Given the description of an element on the screen output the (x, y) to click on. 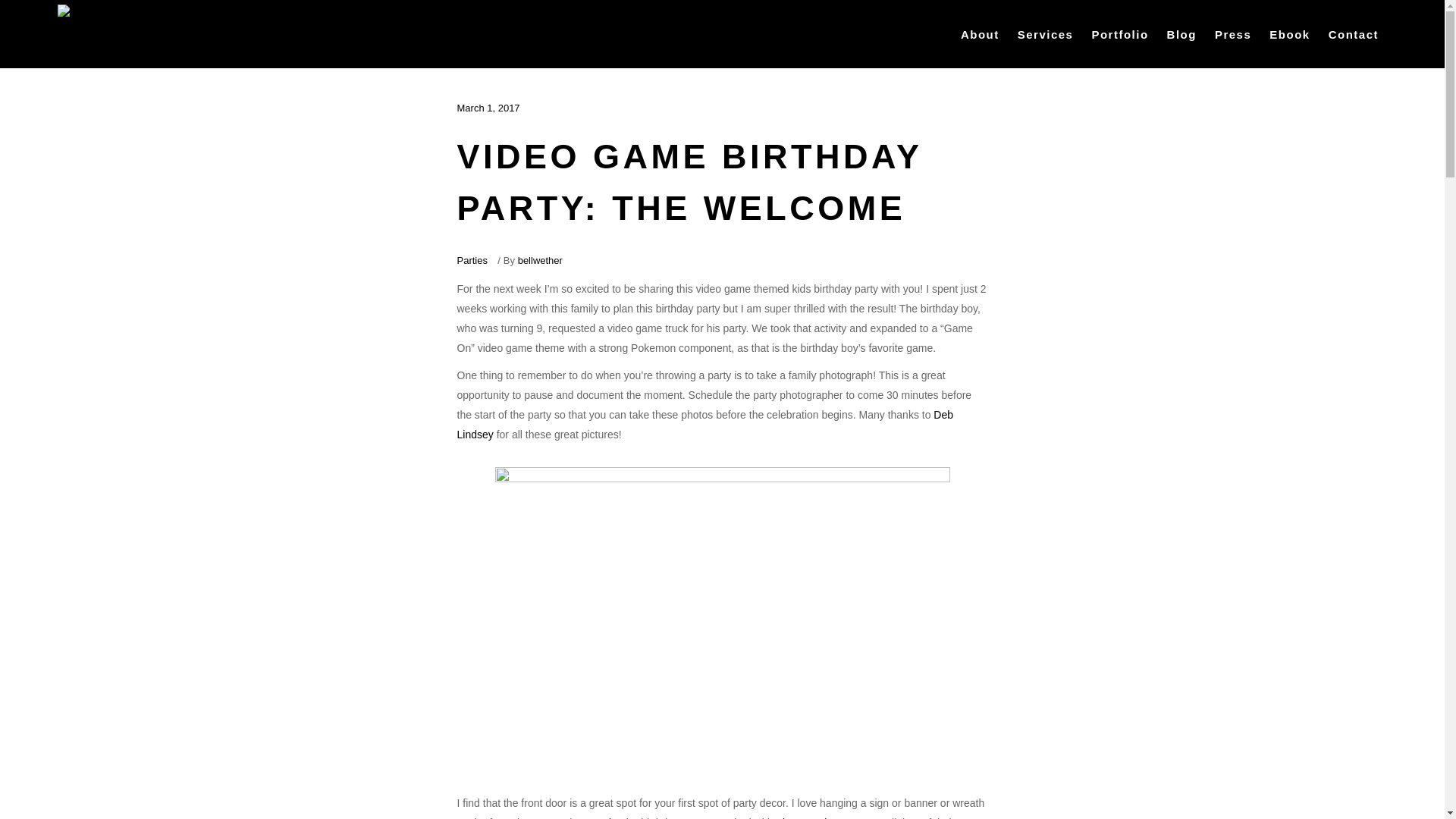
Deb Lindsey (705, 424)
Portfolio (1119, 33)
Services (1046, 33)
March 1, 2017 (488, 107)
Parties (471, 260)
Contact (1353, 33)
bellwether (540, 260)
Fig. 2 Design (807, 817)
